Given the description of an element on the screen output the (x, y) to click on. 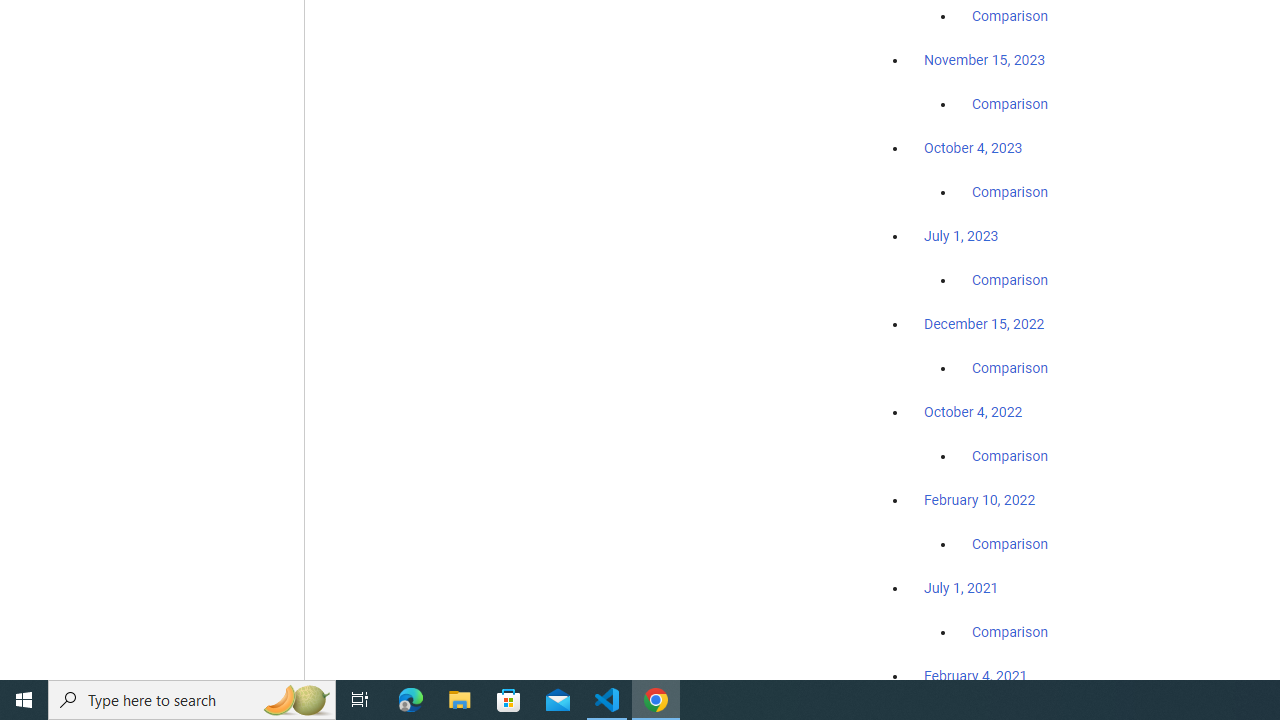
Task View (359, 699)
July 1, 2021 (961, 587)
Start (24, 699)
July 1, 2023 (961, 236)
